Given the description of an element on the screen output the (x, y) to click on. 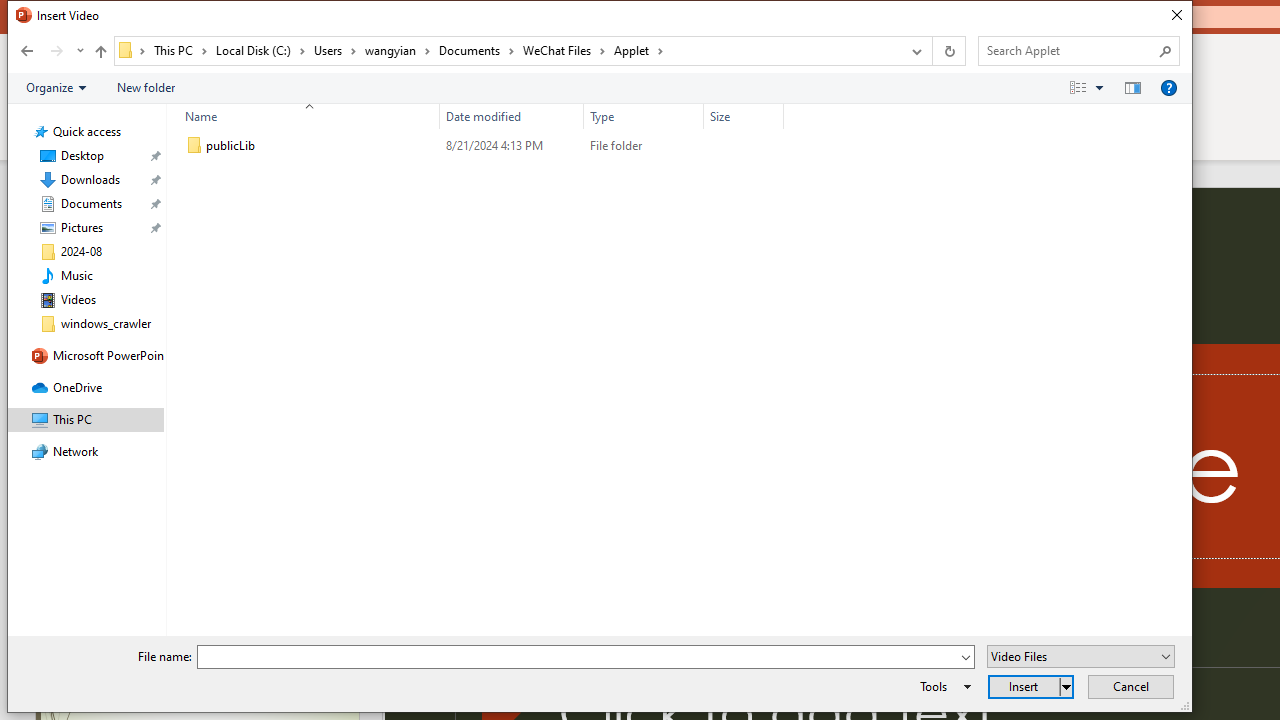
This PC (180, 50)
Up band toolbar (100, 54)
Name (303, 115)
Tools (942, 686)
Address: C:\Users\wangyian\Documents\WeChat Files\Applet (506, 51)
Tools (942, 686)
Previous Locations (914, 51)
Preview pane (1132, 87)
Date modified (511, 115)
Size (743, 115)
File name: (577, 657)
